Given the description of an element on the screen output the (x, y) to click on. 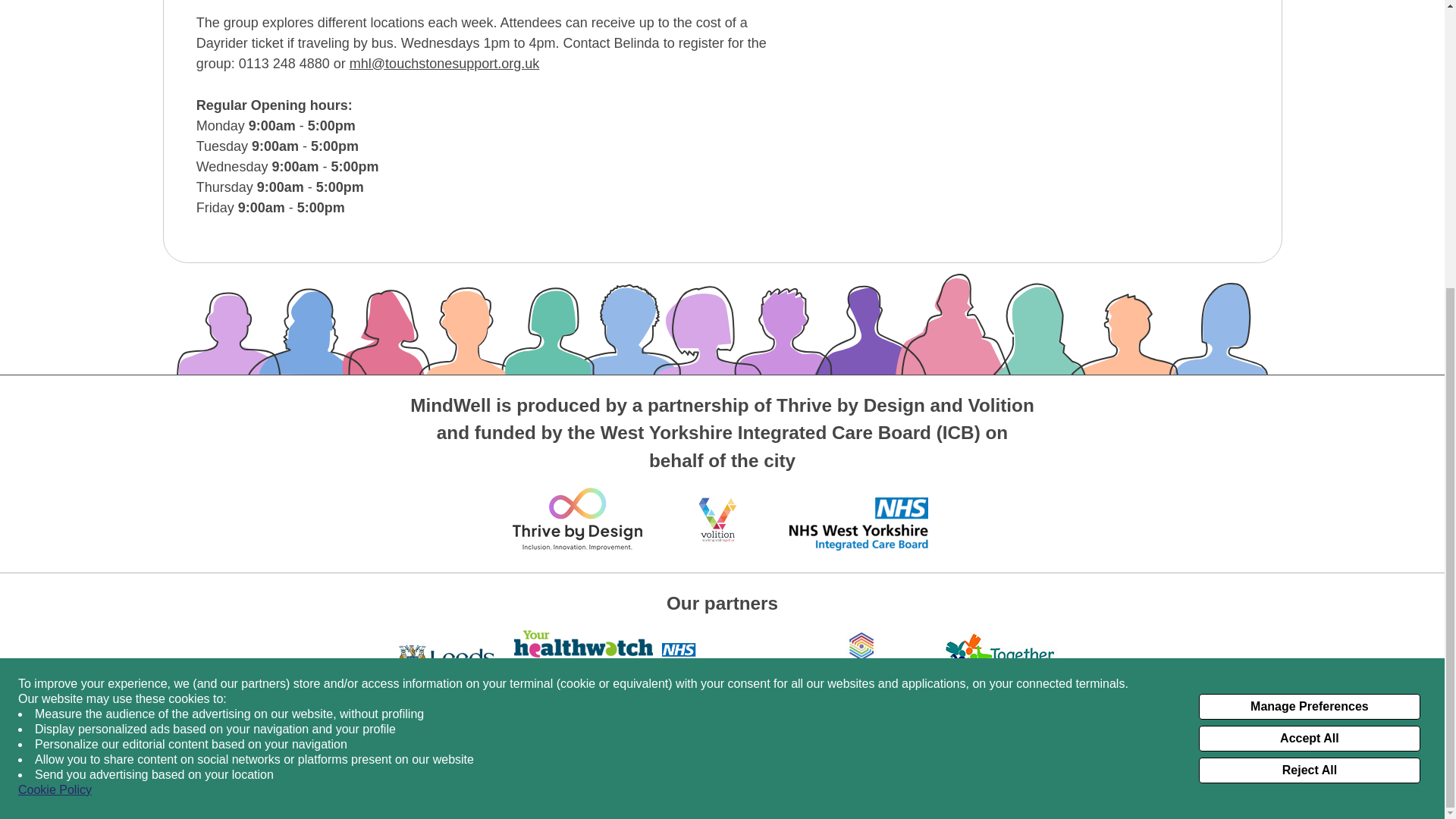
Accept All (1309, 301)
Privacy Policy (1161, 769)
Accessibility (449, 721)
About MindWell (213, 741)
Home (187, 721)
Cookie Policy (1077, 769)
Terms of Use (1246, 769)
Reject All (1309, 333)
Finding support in Leeds (726, 760)
Cookie Policy (54, 353)
Site Feedback (80, 369)
Manage Preferences (1309, 269)
Twitter (1266, 739)
Get in touch (204, 760)
Need urgent help? (710, 741)
